Given the description of an element on the screen output the (x, y) to click on. 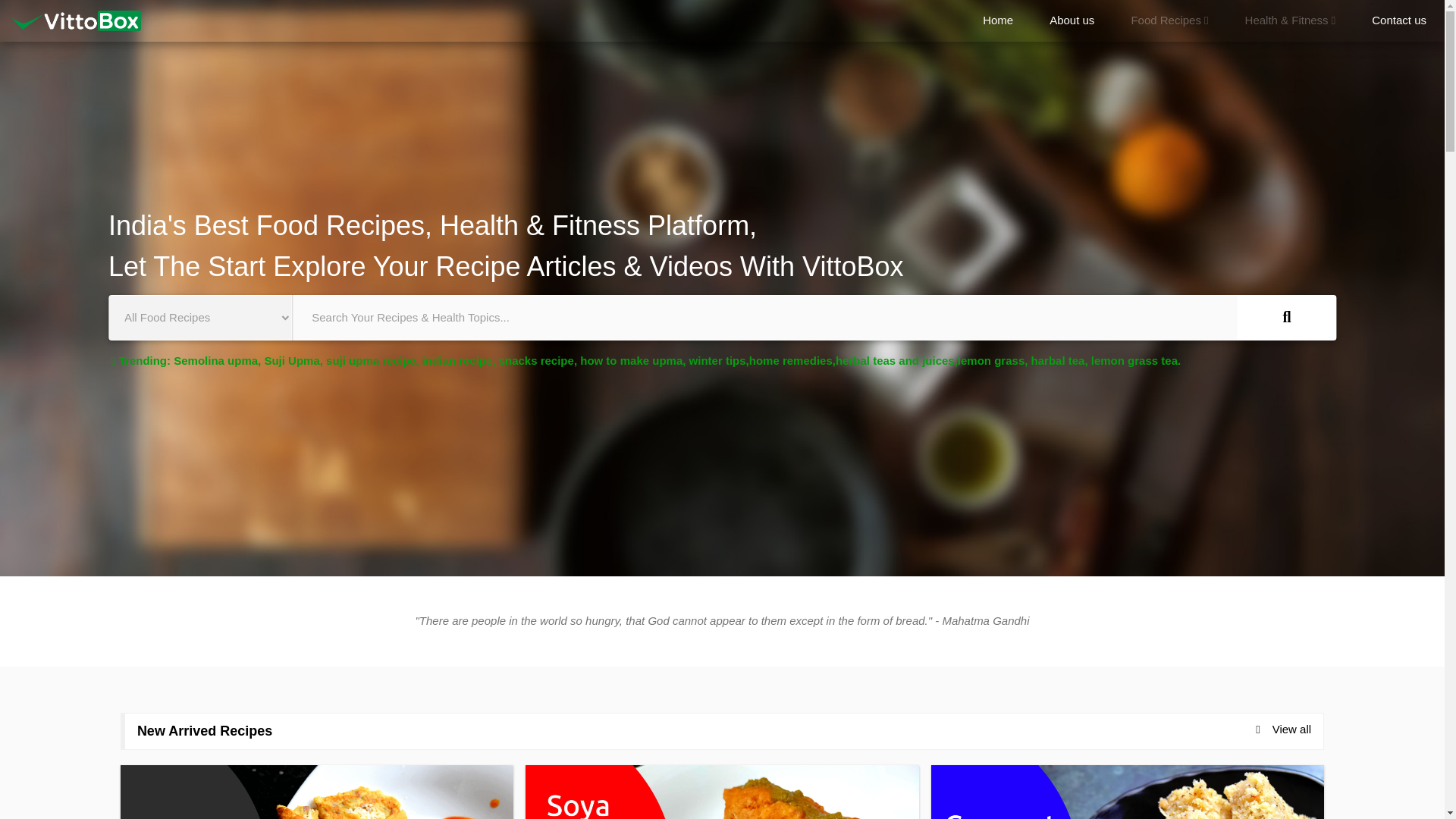
About us (1071, 20)
Food Recipes (1168, 20)
Home (996, 20)
